Given the description of an element on the screen output the (x, y) to click on. 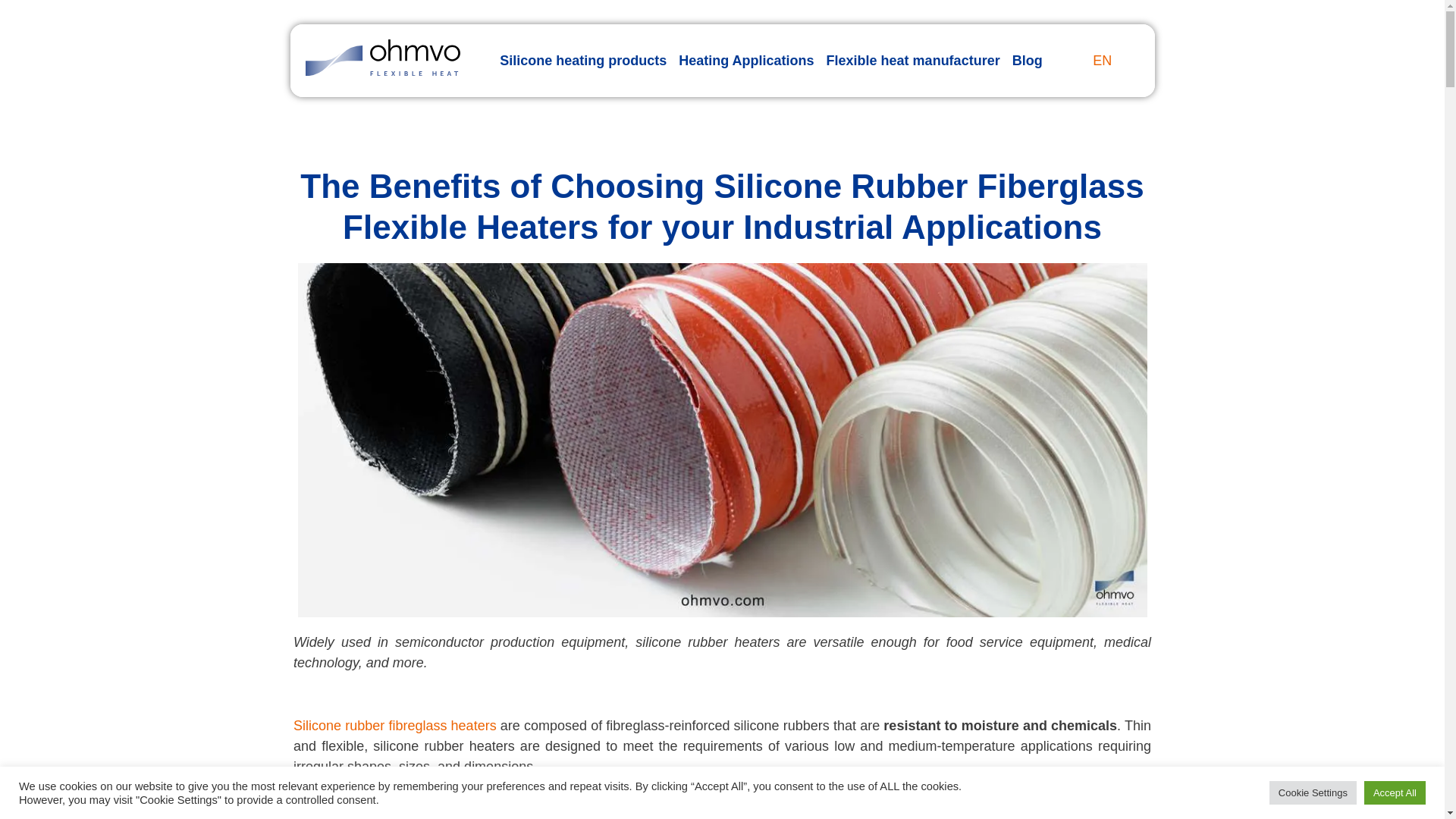
Silicone heating products (582, 60)
Heating Applications (745, 60)
Flexible heat manufacturer (913, 60)
EN (1098, 60)
Blog (1027, 60)
